Given the description of an element on the screen output the (x, y) to click on. 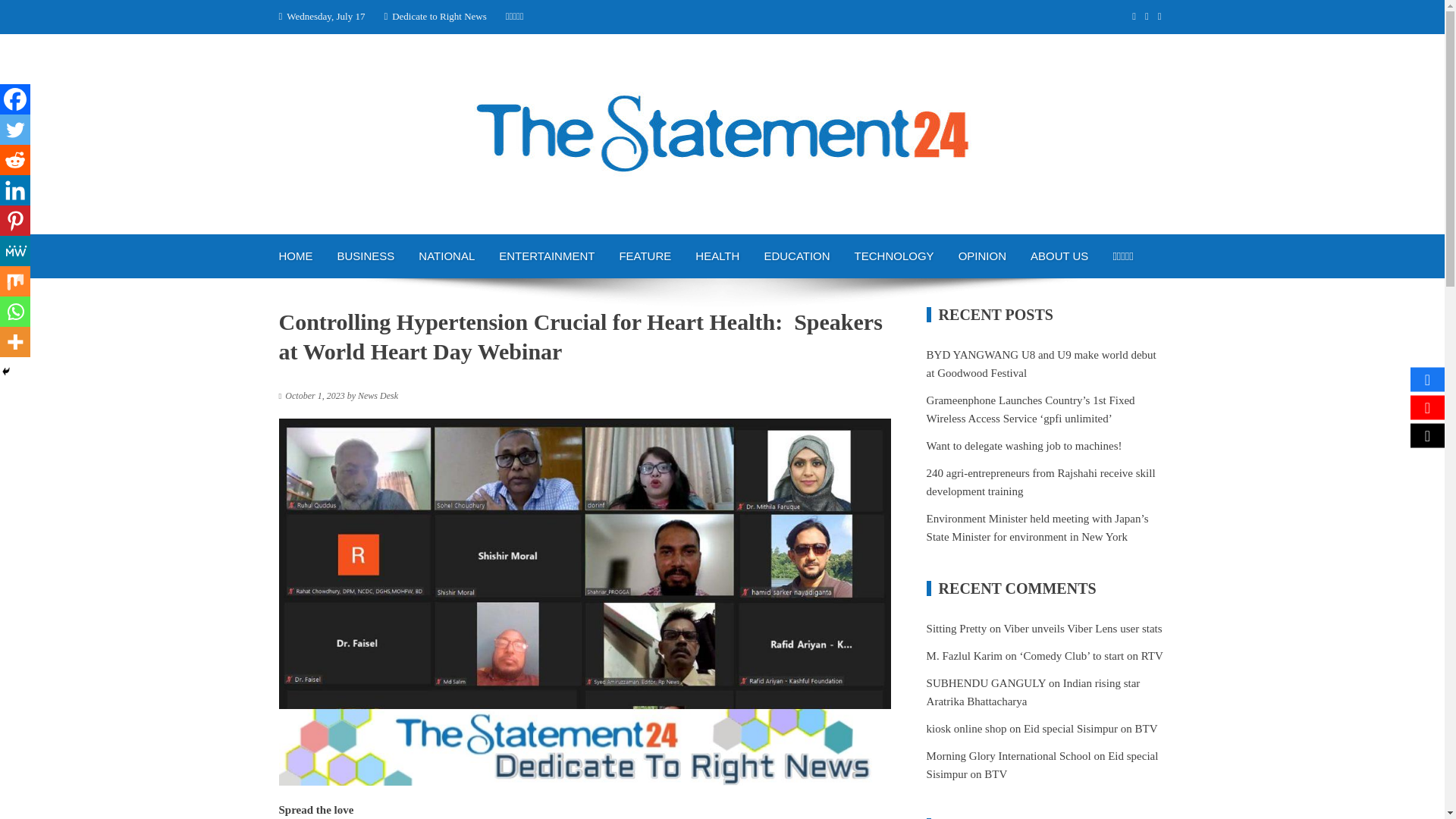
TECHNOLOGY (894, 256)
Reddit (15, 159)
OPINION (981, 256)
Pinterest (15, 220)
Linkedin (15, 190)
Facebook (15, 99)
HOME (295, 256)
NATIONAL (446, 256)
FEATURE (644, 256)
MeWe (15, 250)
EDUCATION (796, 256)
ABOUT US (1058, 256)
BUSINESS (365, 256)
Twitter (15, 129)
ENTERTAINMENT (546, 256)
